Given the description of an element on the screen output the (x, y) to click on. 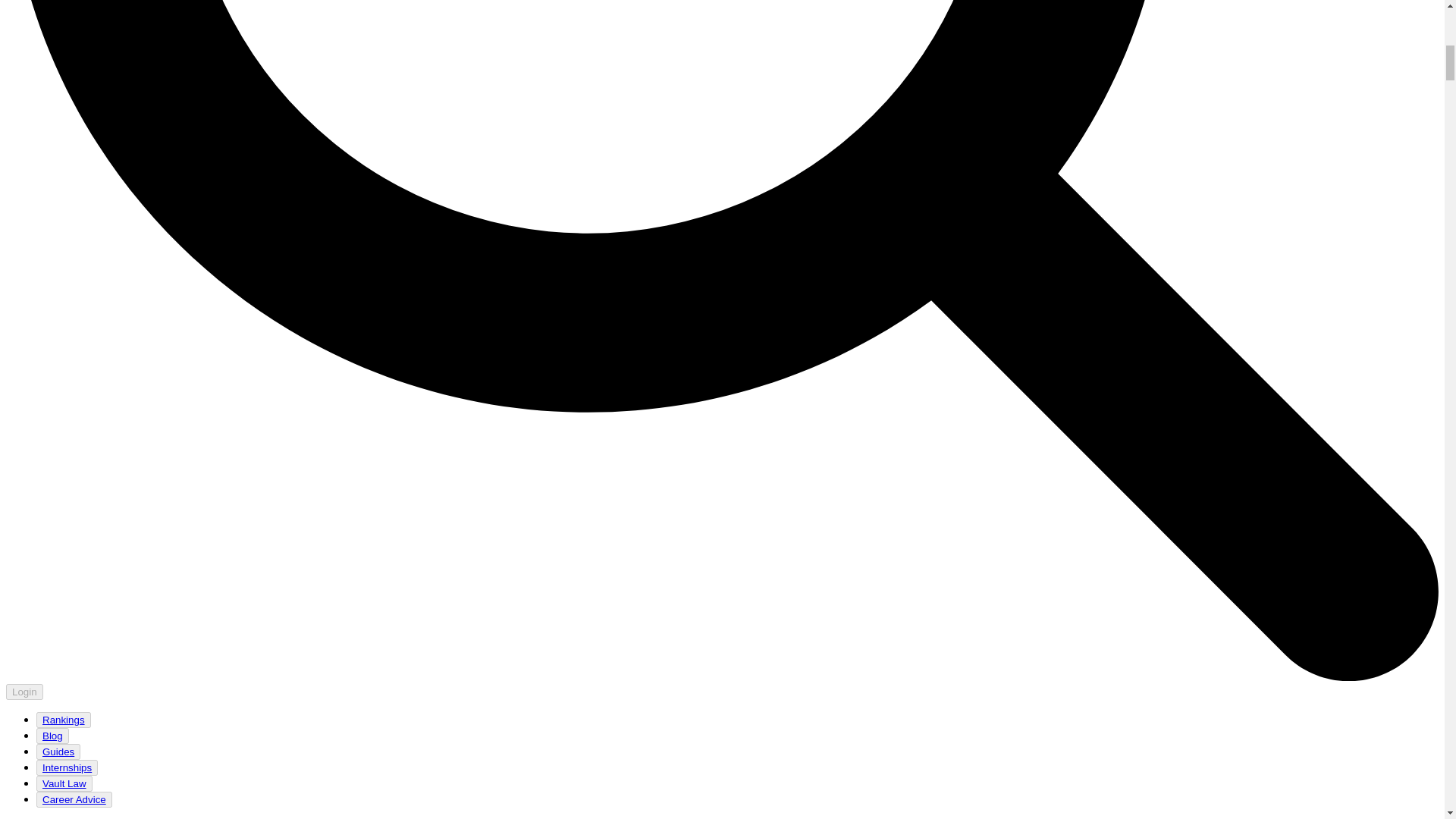
Blog (52, 735)
Vault Law (63, 783)
Rankings (63, 719)
Career Advice (74, 799)
Internships (66, 767)
Guides (58, 751)
Login (24, 691)
Blog (52, 736)
Login (24, 690)
Guides (58, 751)
Rankings (63, 719)
Career Advice (74, 799)
Internships (66, 767)
Vault Law (64, 783)
